Given the description of an element on the screen output the (x, y) to click on. 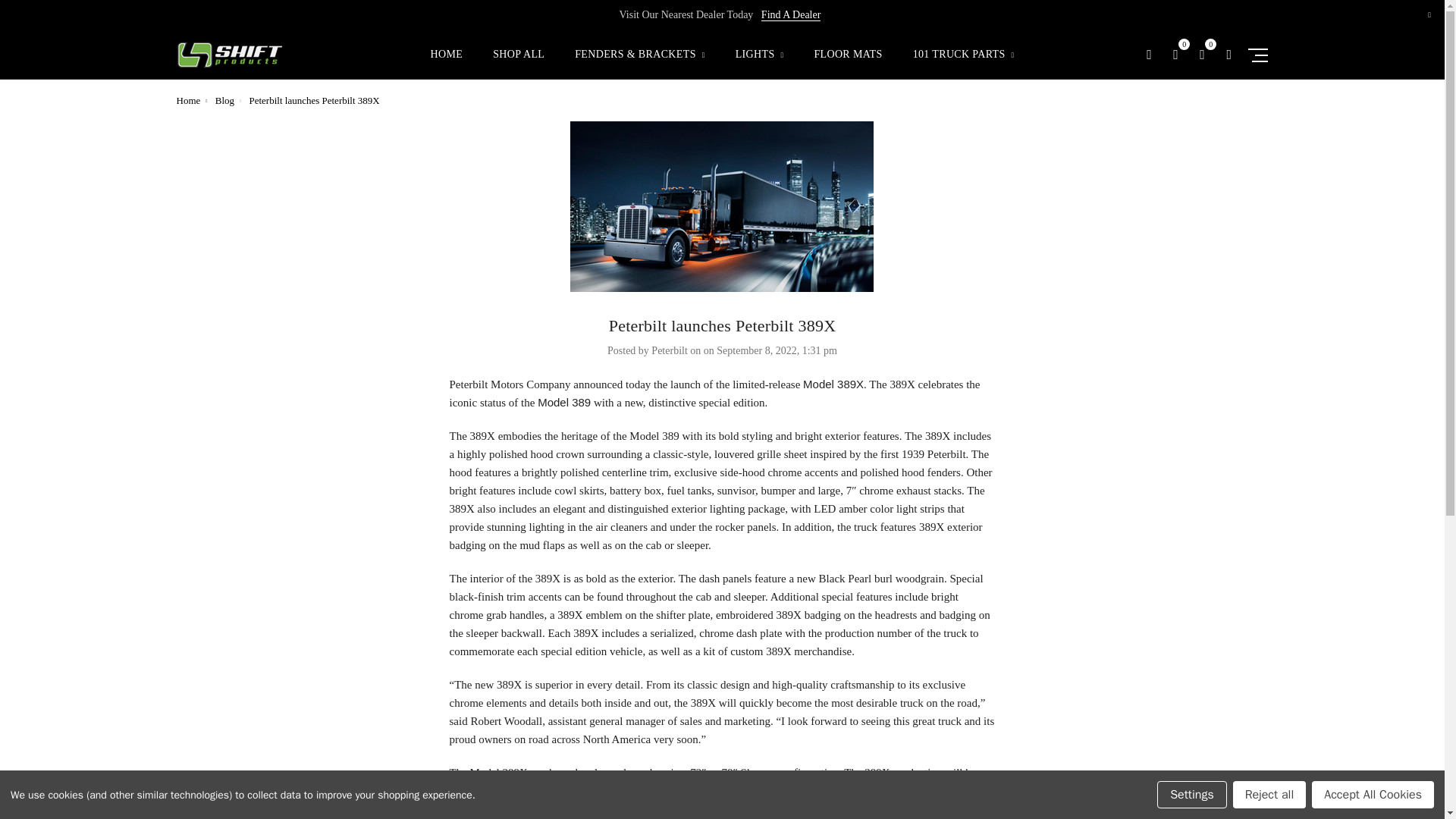
LIGHTS (759, 63)
Peterbilt launches Peterbilt 389X (721, 206)
Find A Dealer (791, 15)
FLOOR MATS (847, 63)
101 TRUCK PARTS (963, 63)
Shift Products (229, 54)
HOME (446, 63)
SHOP ALL (518, 63)
